Given the description of an element on the screen output the (x, y) to click on. 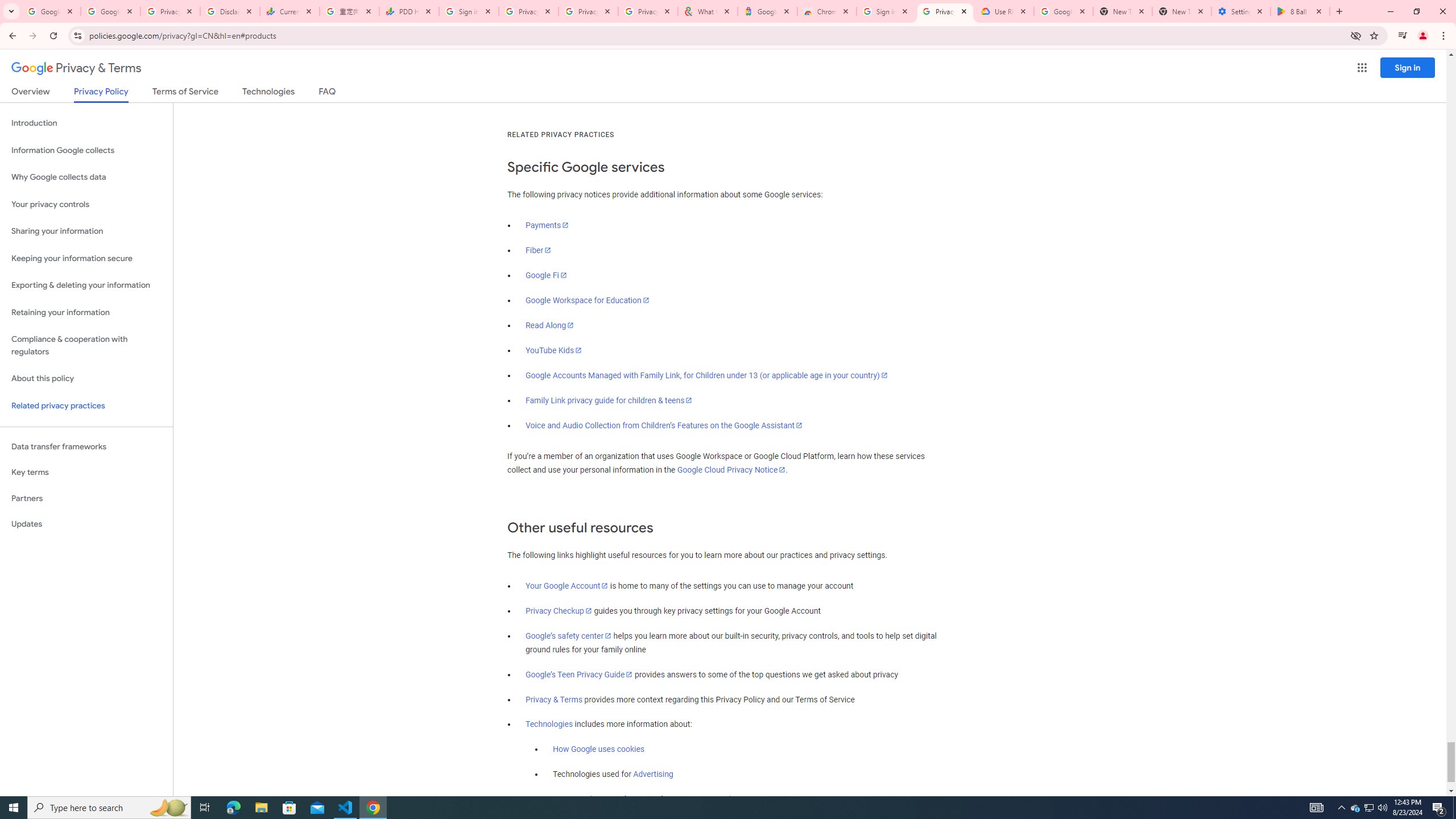
Privacy Checkup (558, 610)
Google (767, 11)
Keeping your information secure (86, 258)
Google Cloud Privacy Notice (731, 469)
Read Along (550, 325)
Exporting & deleting your information (86, 284)
8 Ball Pool - Apps on Google Play (1300, 11)
Advertising (652, 774)
About this policy (86, 379)
